Given the description of an element on the screen output the (x, y) to click on. 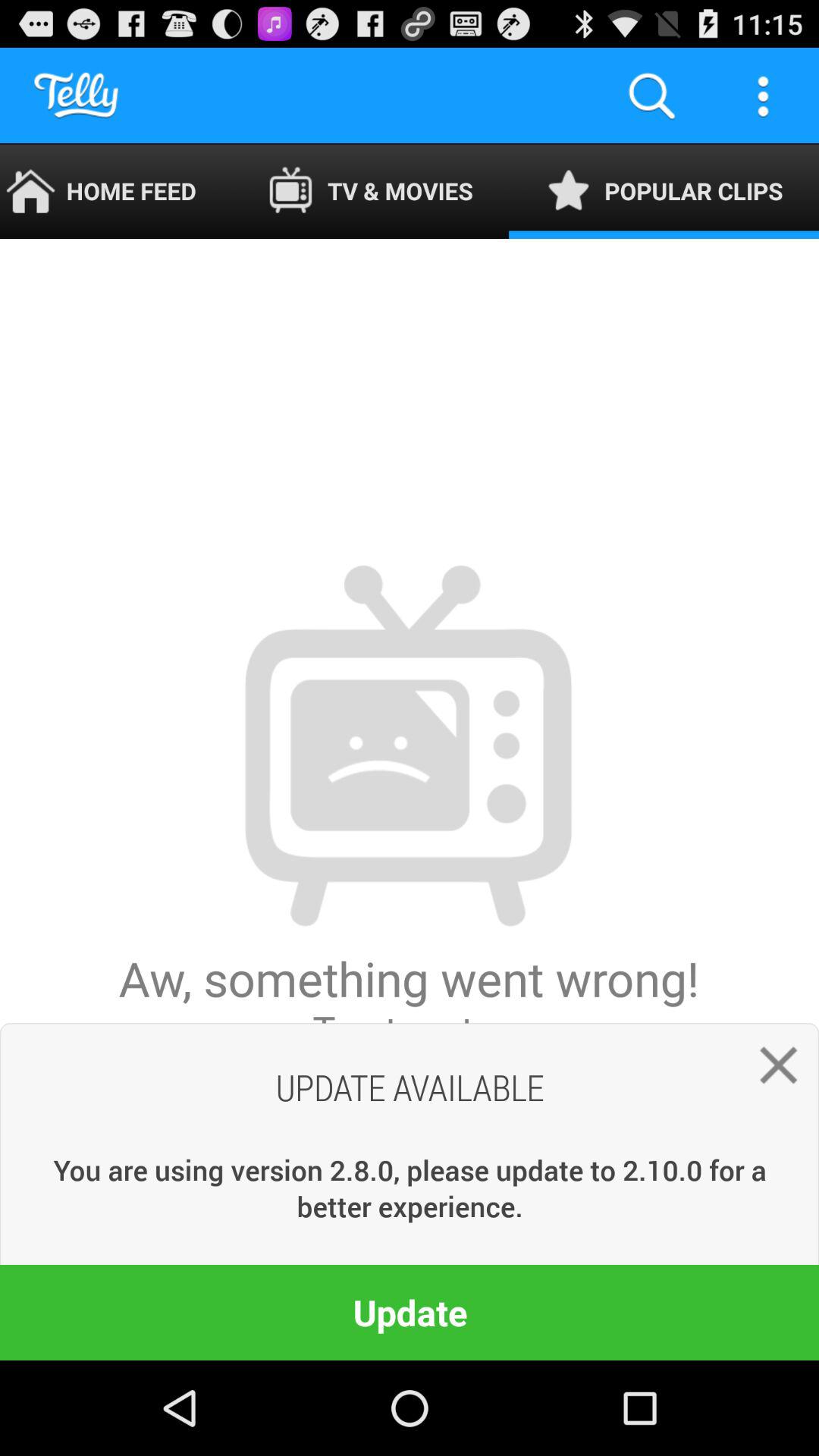
tap item above the popular clips (763, 95)
